Given the description of an element on the screen output the (x, y) to click on. 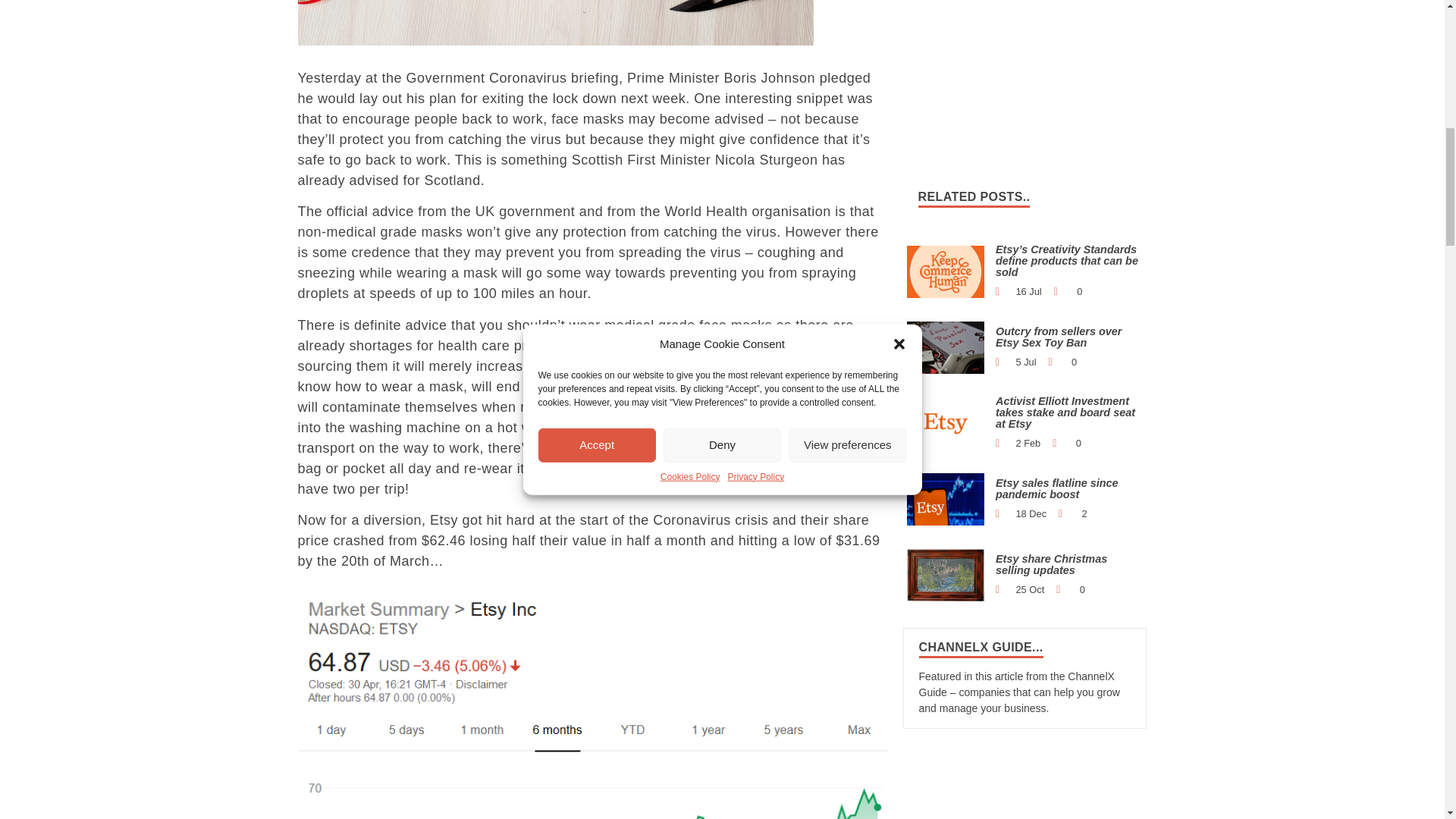
Outcry from sellers over Etsy Sex Toy Ban (946, 347)
Etsy-data (946, 498)
Etsy share Christmas selling updates (946, 574)
